Given the description of an element on the screen output the (x, y) to click on. 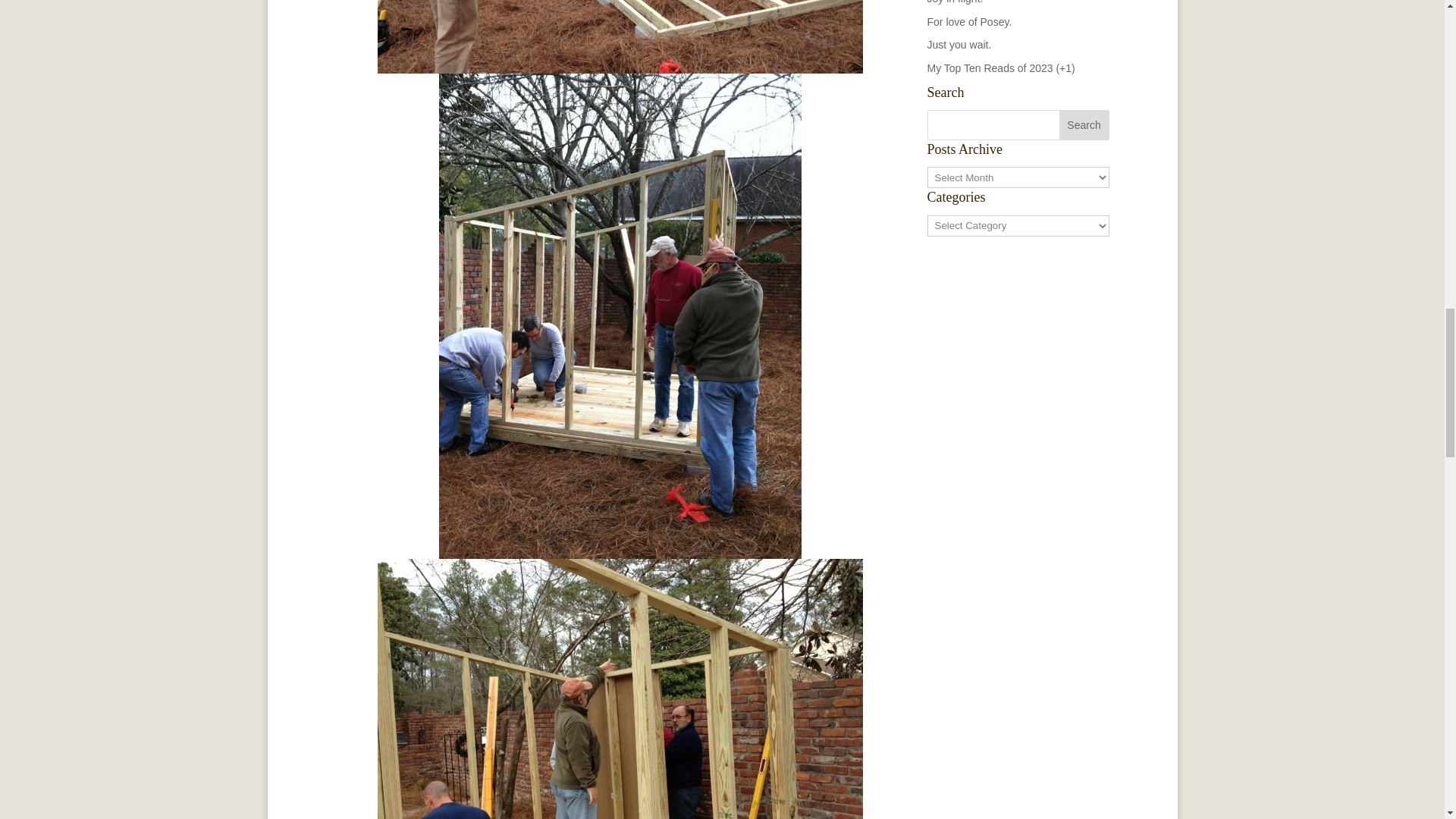
Search (1084, 124)
Search (1084, 124)
For love of Posey. (968, 21)
Joy in flight! (954, 2)
Just you wait. (958, 44)
